Given the description of an element on the screen output the (x, y) to click on. 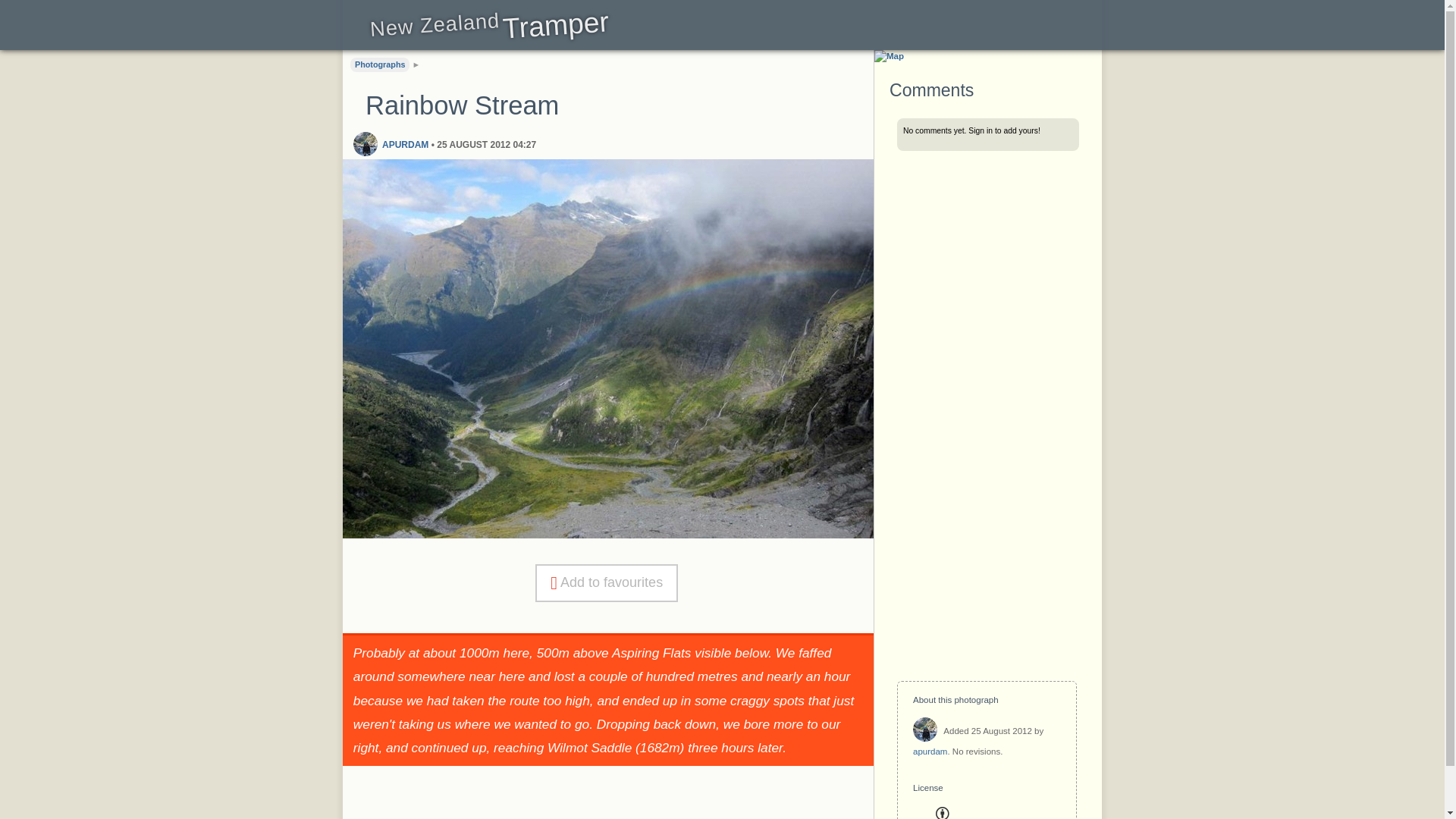
View larger map (889, 55)
New Zealand Tramper (488, 30)
Home (488, 30)
View original image (607, 534)
